Given the description of an element on the screen output the (x, y) to click on. 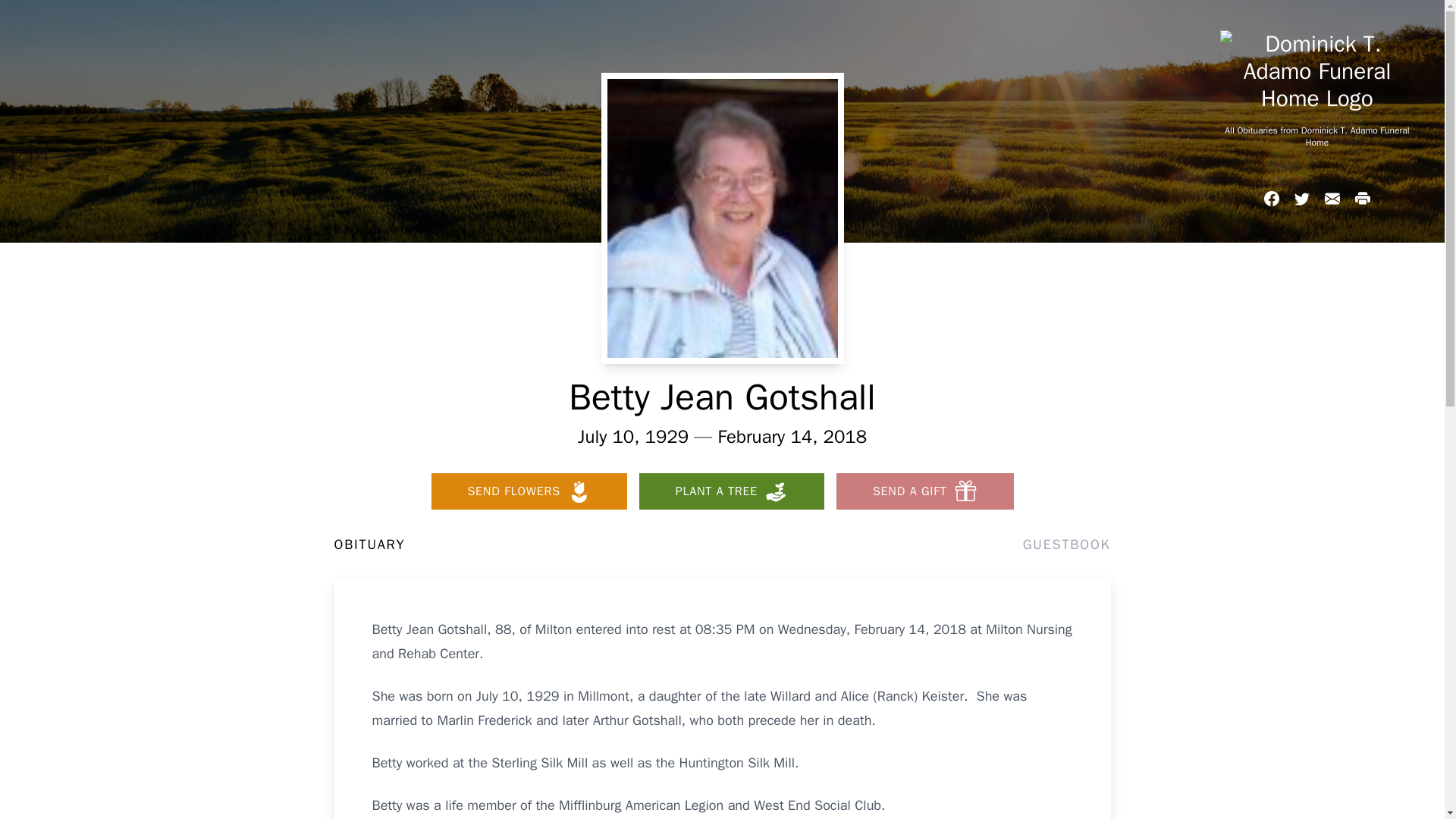
PLANT A TREE (731, 491)
GUESTBOOK (1066, 544)
OBITUARY (368, 544)
SEND A GIFT (924, 491)
SEND FLOWERS (528, 491)
All Obituaries from Dominick T. Adamo Funeral Home (1316, 136)
